Given the description of an element on the screen output the (x, y) to click on. 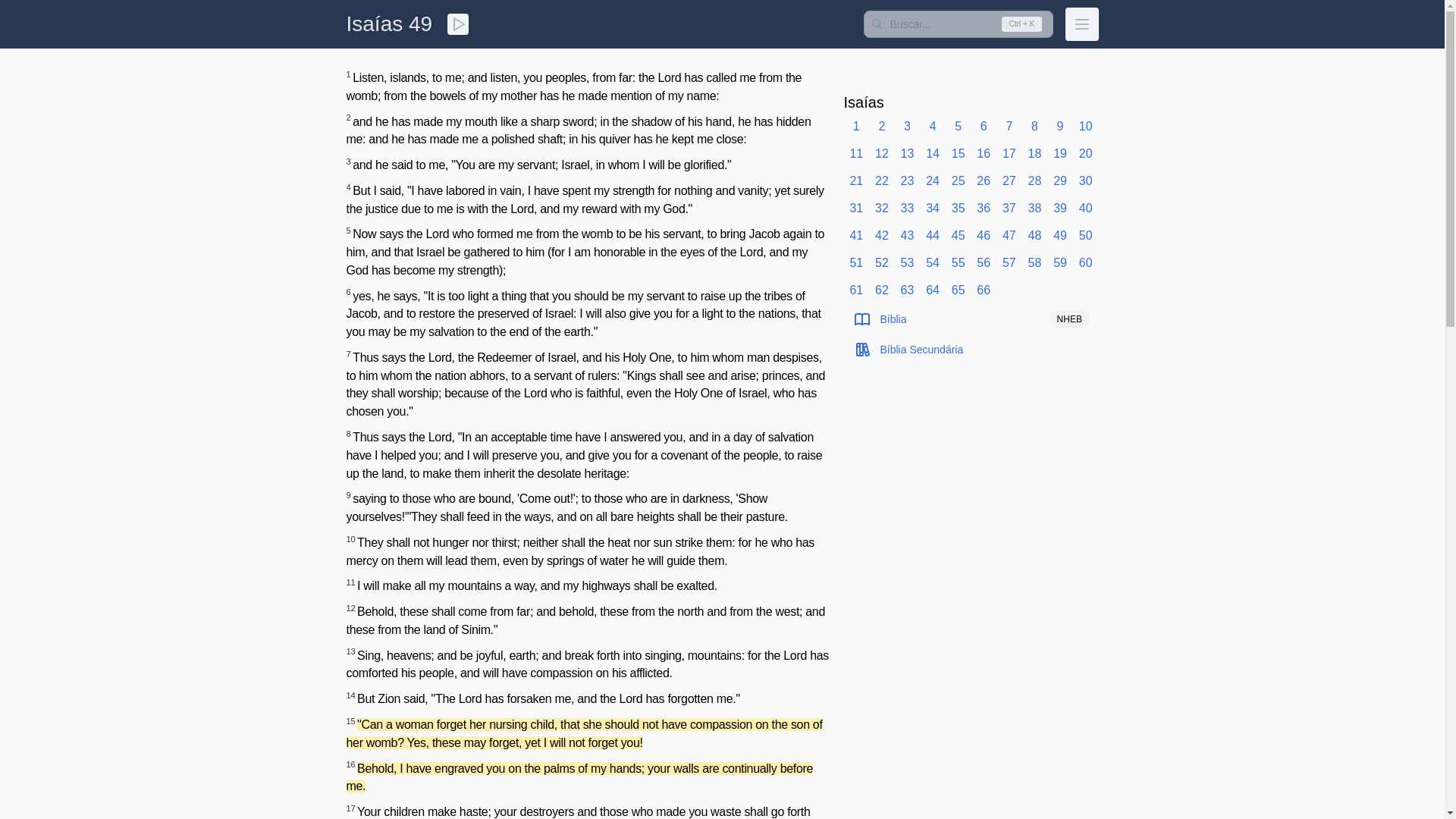
3 (907, 126)
9 (1059, 126)
10 (1085, 126)
49 (420, 24)
4 (932, 126)
29 (1059, 180)
26 (983, 180)
25 (958, 180)
6 (983, 126)
20 (1085, 153)
